Given the description of an element on the screen output the (x, y) to click on. 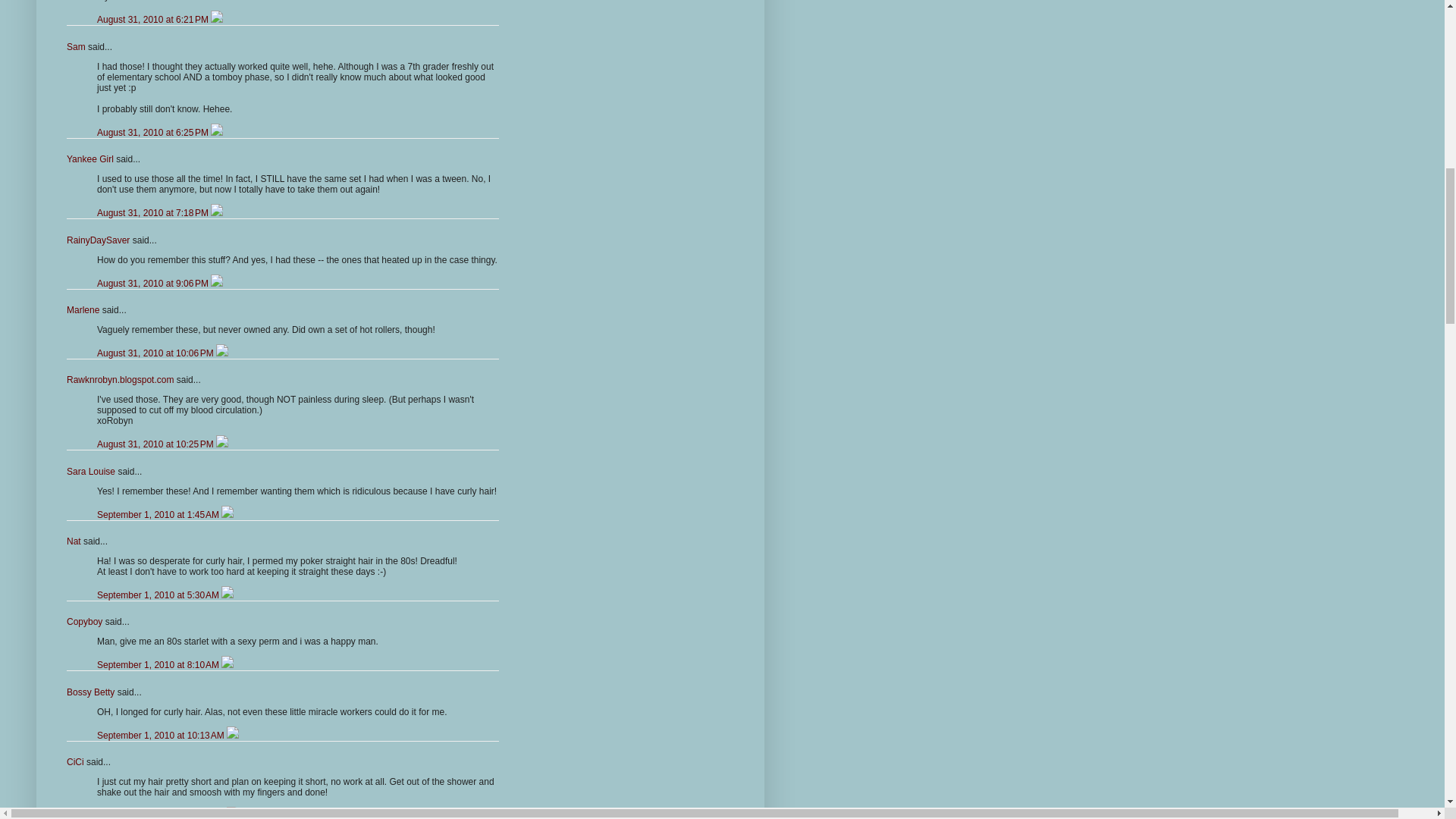
RainyDaySaver (97, 240)
Sam (75, 46)
comment permalink (154, 19)
Yankee Girl (89, 158)
comment permalink (154, 132)
Delete Comment (216, 132)
Delete Comment (216, 19)
Marlene (82, 309)
